Given the description of an element on the screen output the (x, y) to click on. 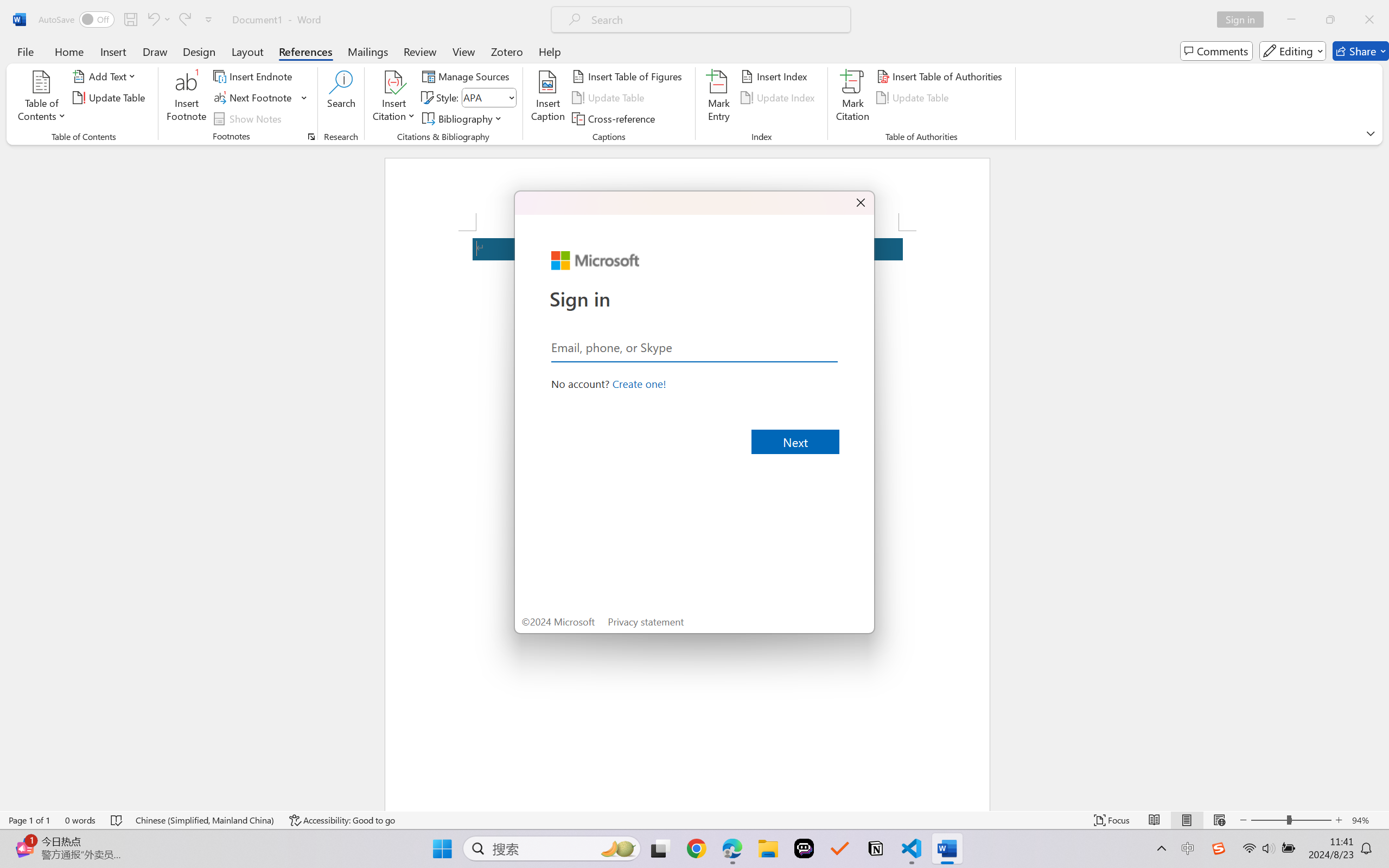
Bibliography (463, 118)
Style (483, 96)
Insert Caption... (547, 97)
Language Chinese (Simplified, Mainland China) (205, 819)
Style (488, 97)
